Given the description of an element on the screen output the (x, y) to click on. 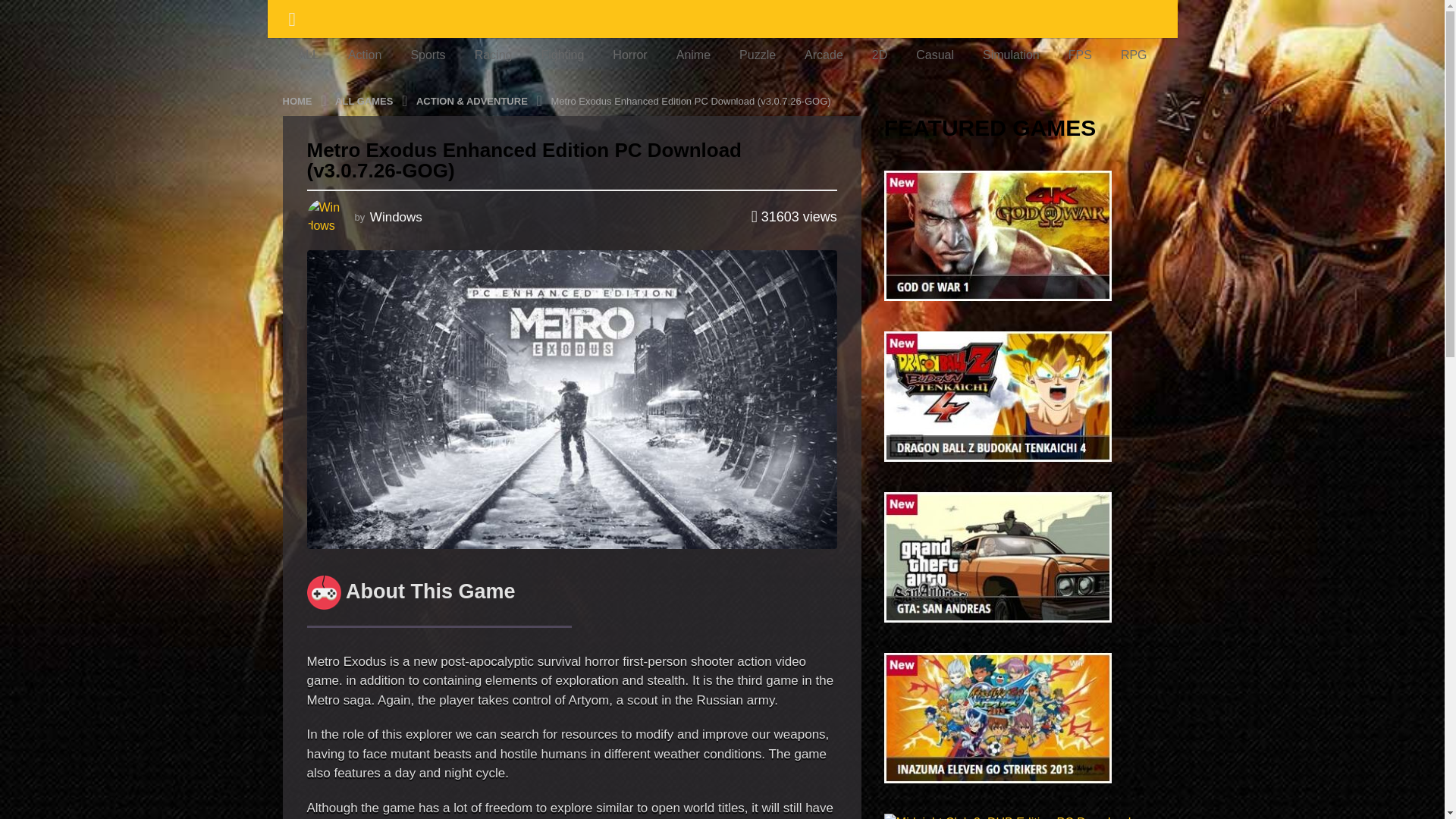
Action (364, 54)
Arcade (823, 54)
2D (879, 54)
Casual (934, 54)
Fighting (562, 54)
Anime (693, 54)
Horror (629, 54)
FPS (1080, 54)
Sports (427, 54)
